Given the description of an element on the screen output the (x, y) to click on. 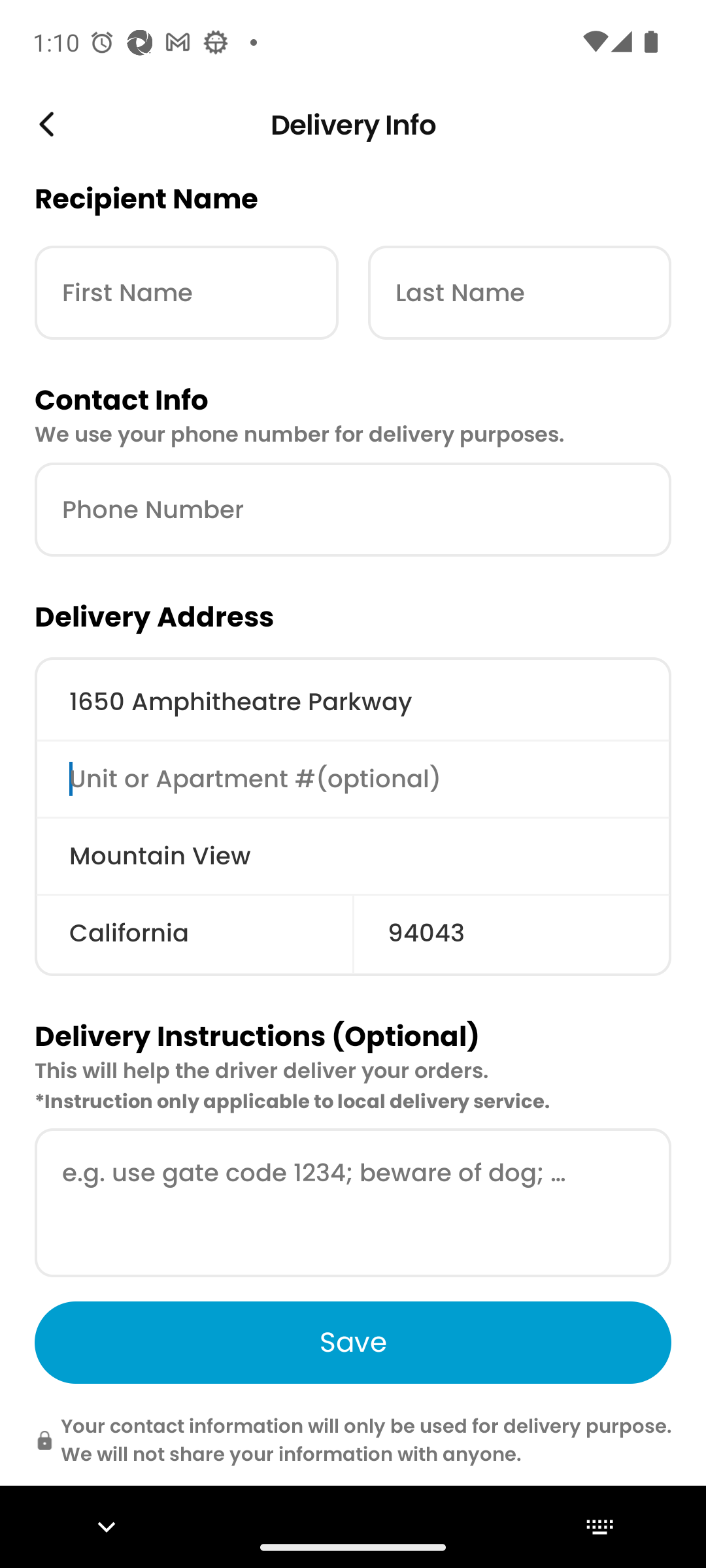
First Name (186, 293)
Last Name (519, 293)
Phone Number (352, 509)
1650 Amphitheatre Parkway (352, 701)
Unit or Apartment #(optional) (352, 778)
Mountain View (352, 855)
California (193, 932)
94043 (511, 932)
e.g. use gate code 1234; beware of dog; … (352, 1202)
Save (352, 1341)
